Given the description of an element on the screen output the (x, y) to click on. 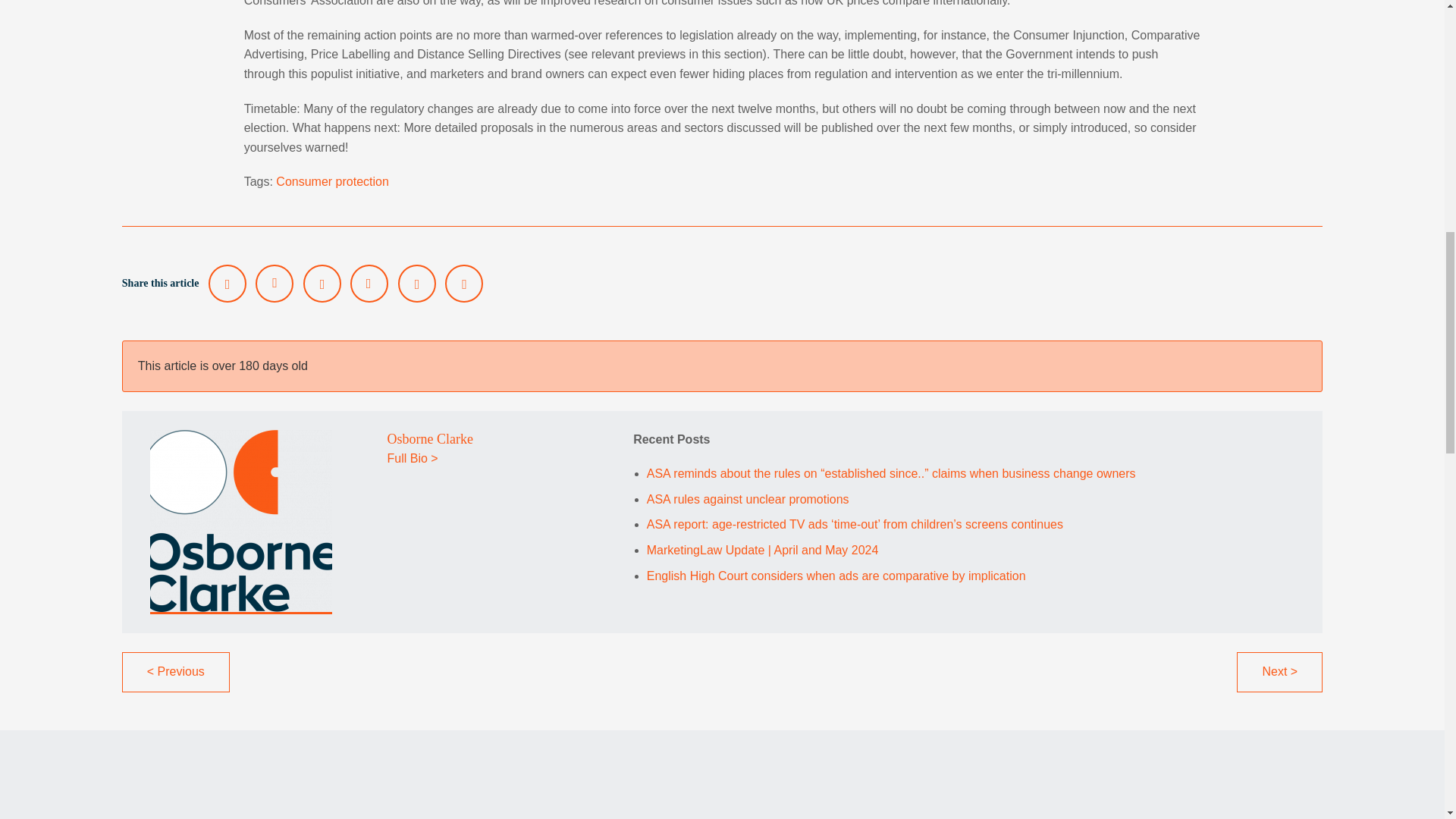
Consumer protection (332, 181)
Permalink to ASA rules against unclear promotions (747, 499)
marketinglaw Print Article (464, 283)
'View all posts by Osborne Clarke (429, 438)
Osborne Clarke (429, 438)
marketinglaw Twitter account (227, 283)
ASA rules against unclear promotions (747, 499)
marketinglaw LinkedIn account (275, 283)
marketinglaw Email Article Link (416, 283)
